Given the description of an element on the screen output the (x, y) to click on. 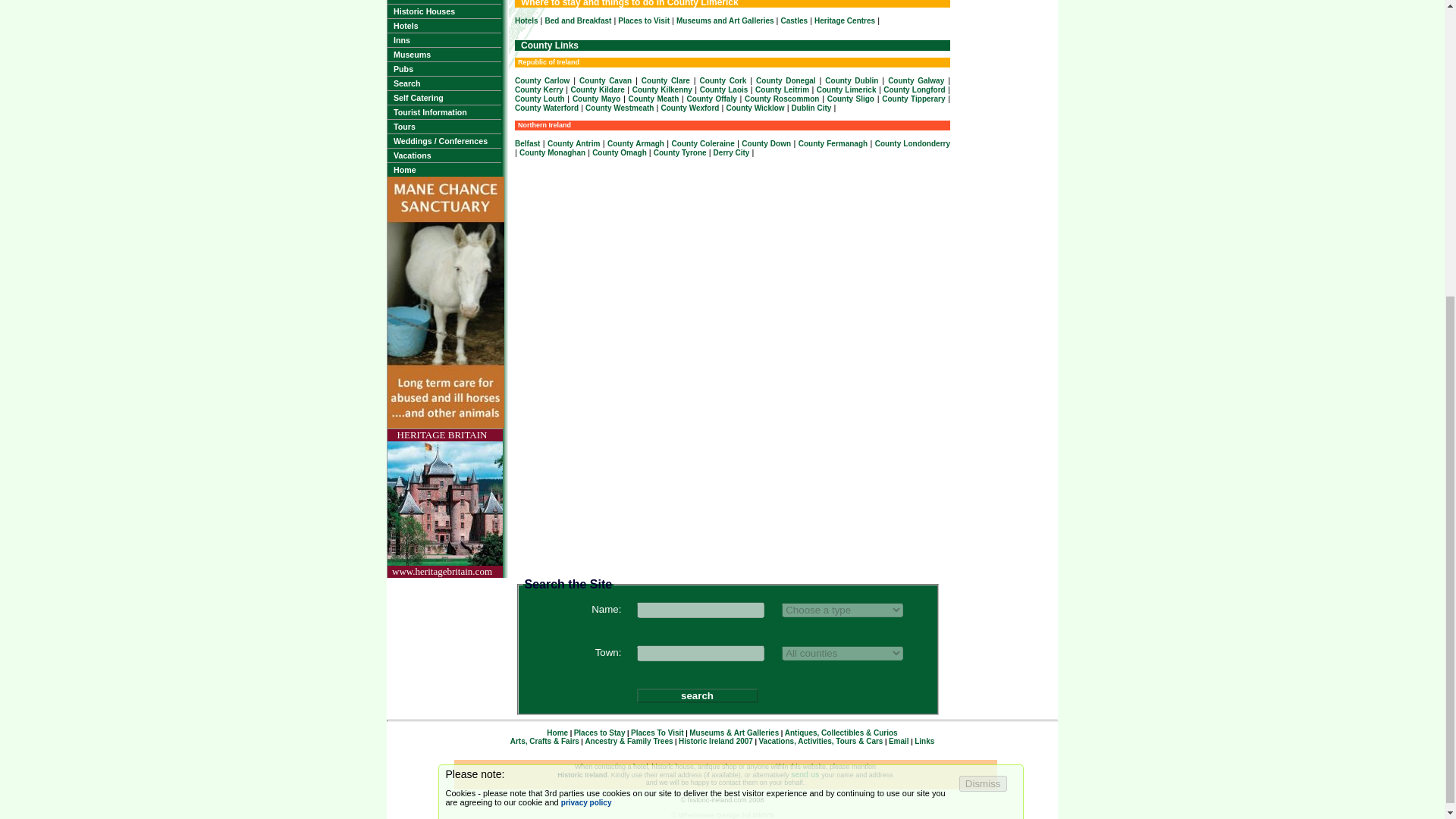
Hotels (443, 25)
Tours (443, 126)
Vacations (443, 155)
Tourist Information (443, 111)
Hotels (526, 20)
Pubs (443, 69)
Search (443, 83)
Bed and Breakfast (577, 20)
Historic Houses (443, 11)
search (697, 695)
